Given the description of an element on the screen output the (x, y) to click on. 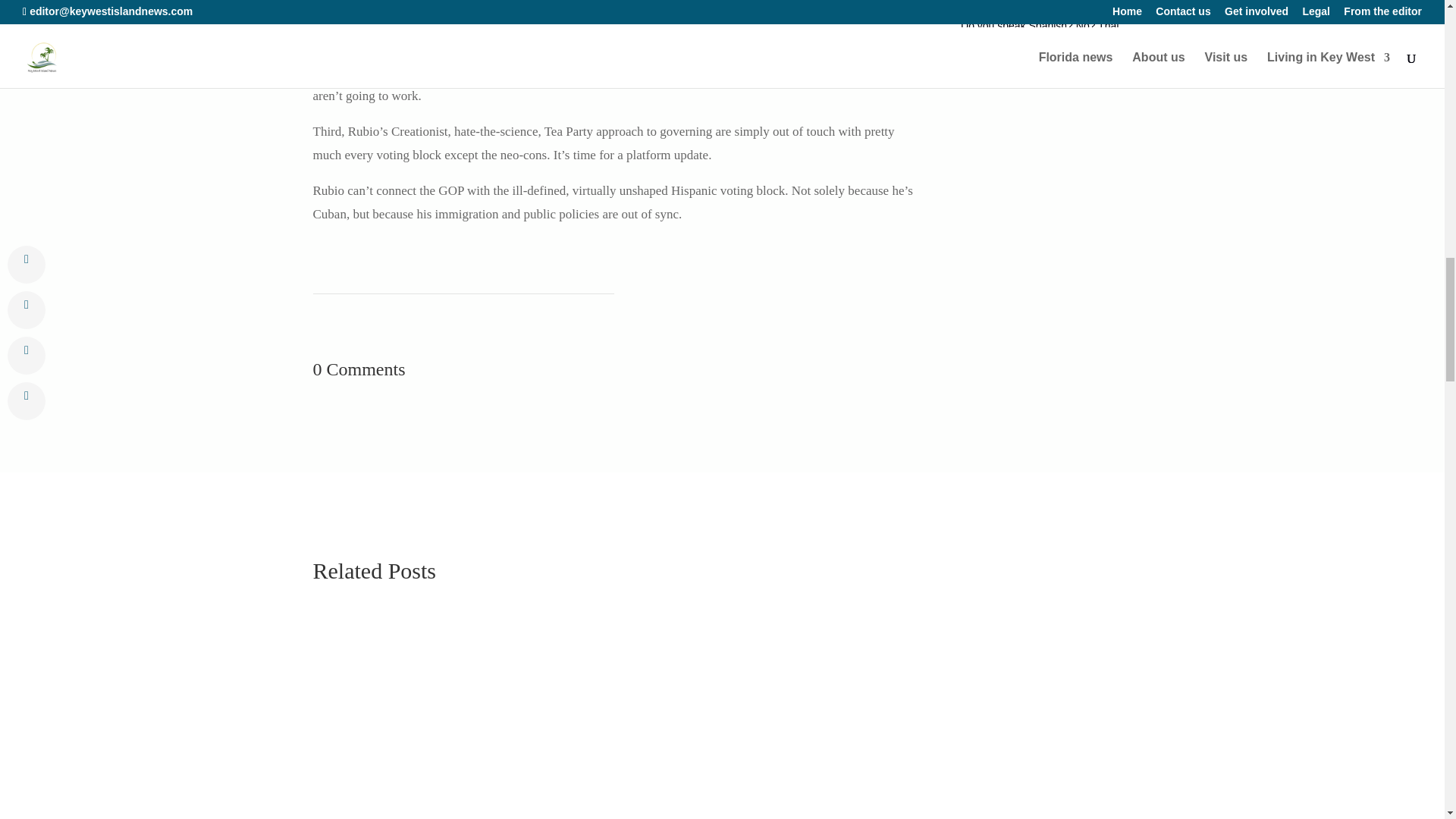
Do you speak Spanish? No? That could be a problem (1039, 33)
